Given the description of an element on the screen output the (x, y) to click on. 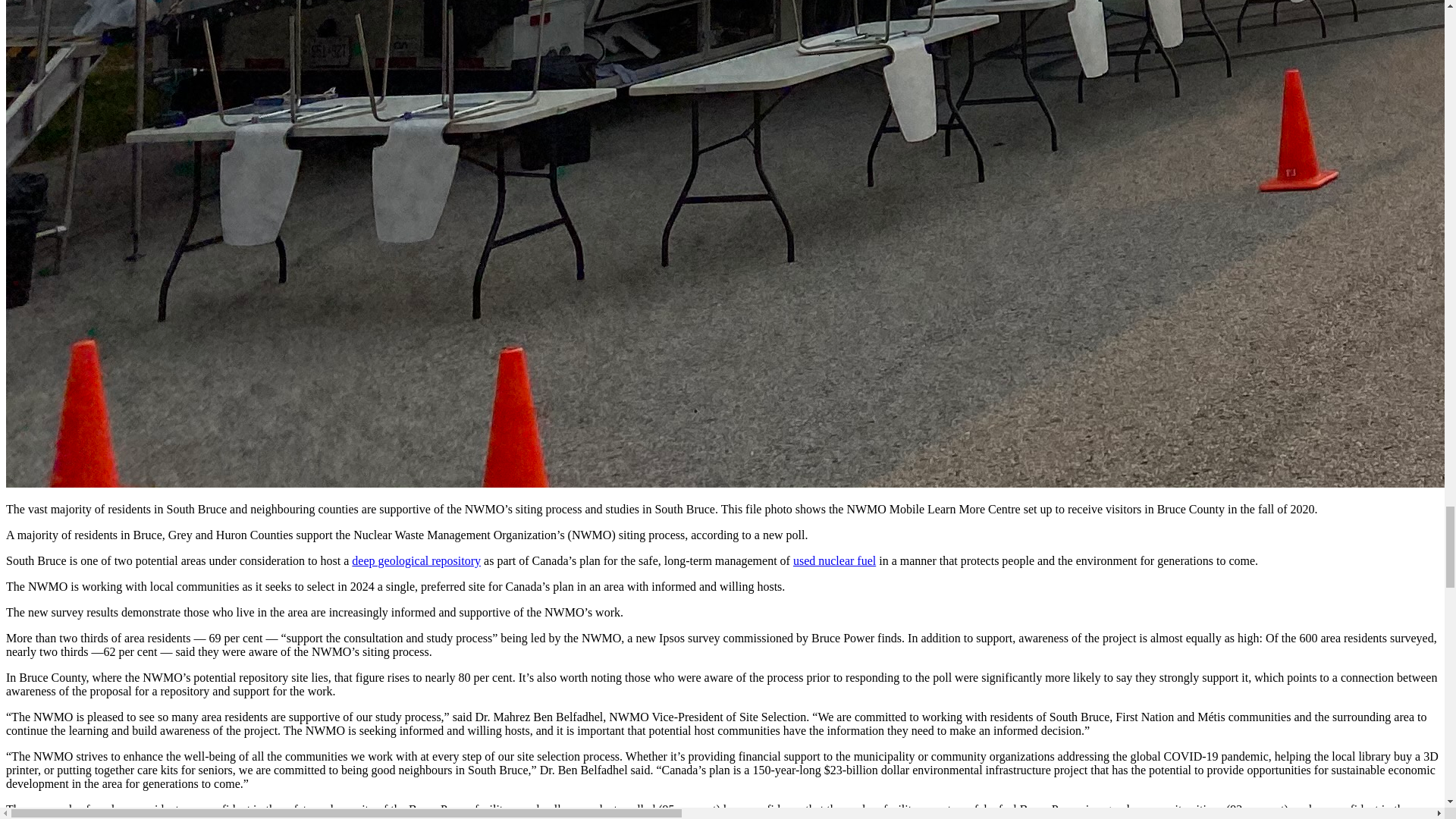
used nuclear fuel (834, 560)
deep geological repository (416, 560)
